Given the description of an element on the screen output the (x, y) to click on. 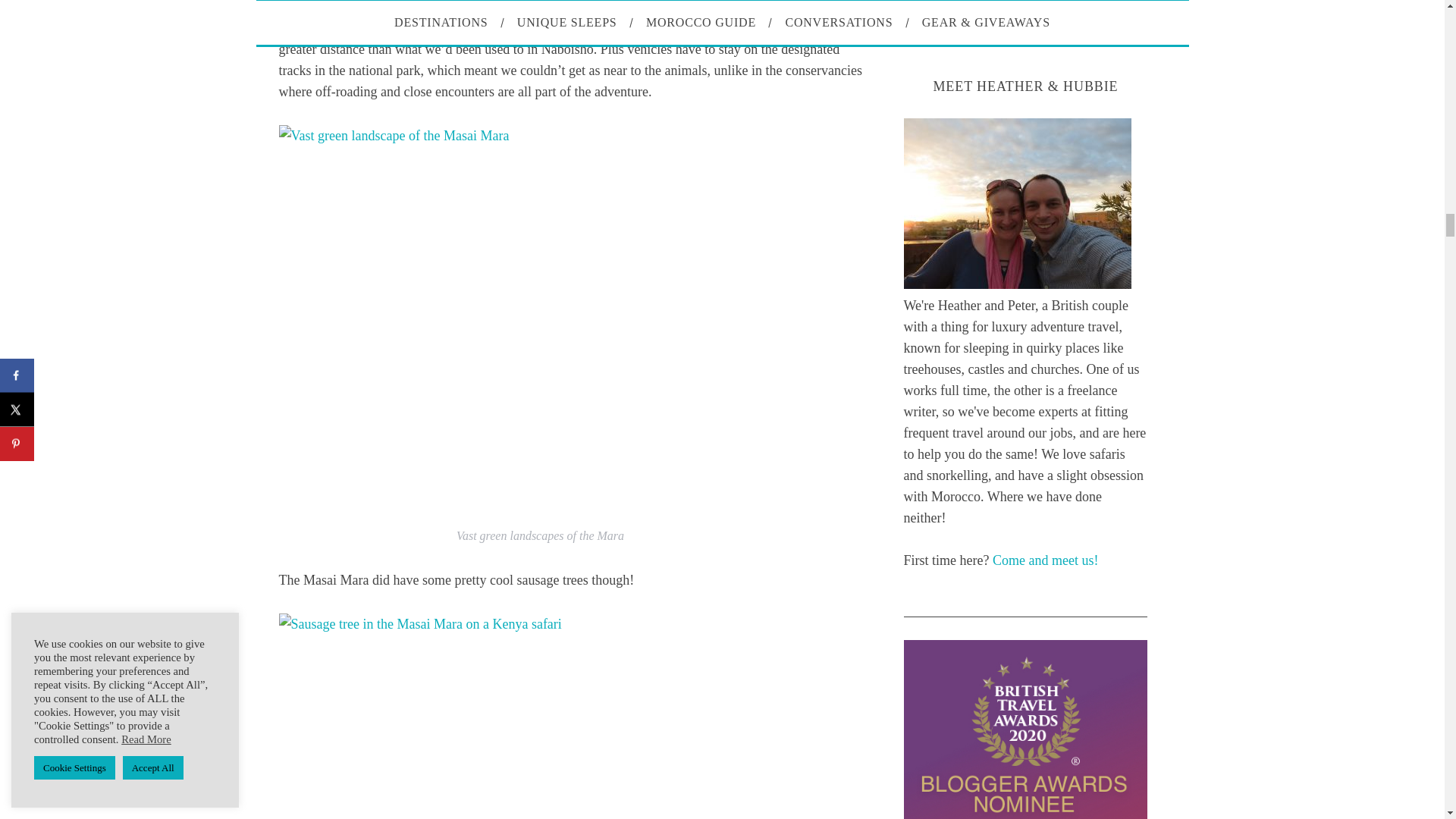
Sausage tree in the Masai Mara on a Kenya safari (540, 715)
